Given the description of an element on the screen output the (x, y) to click on. 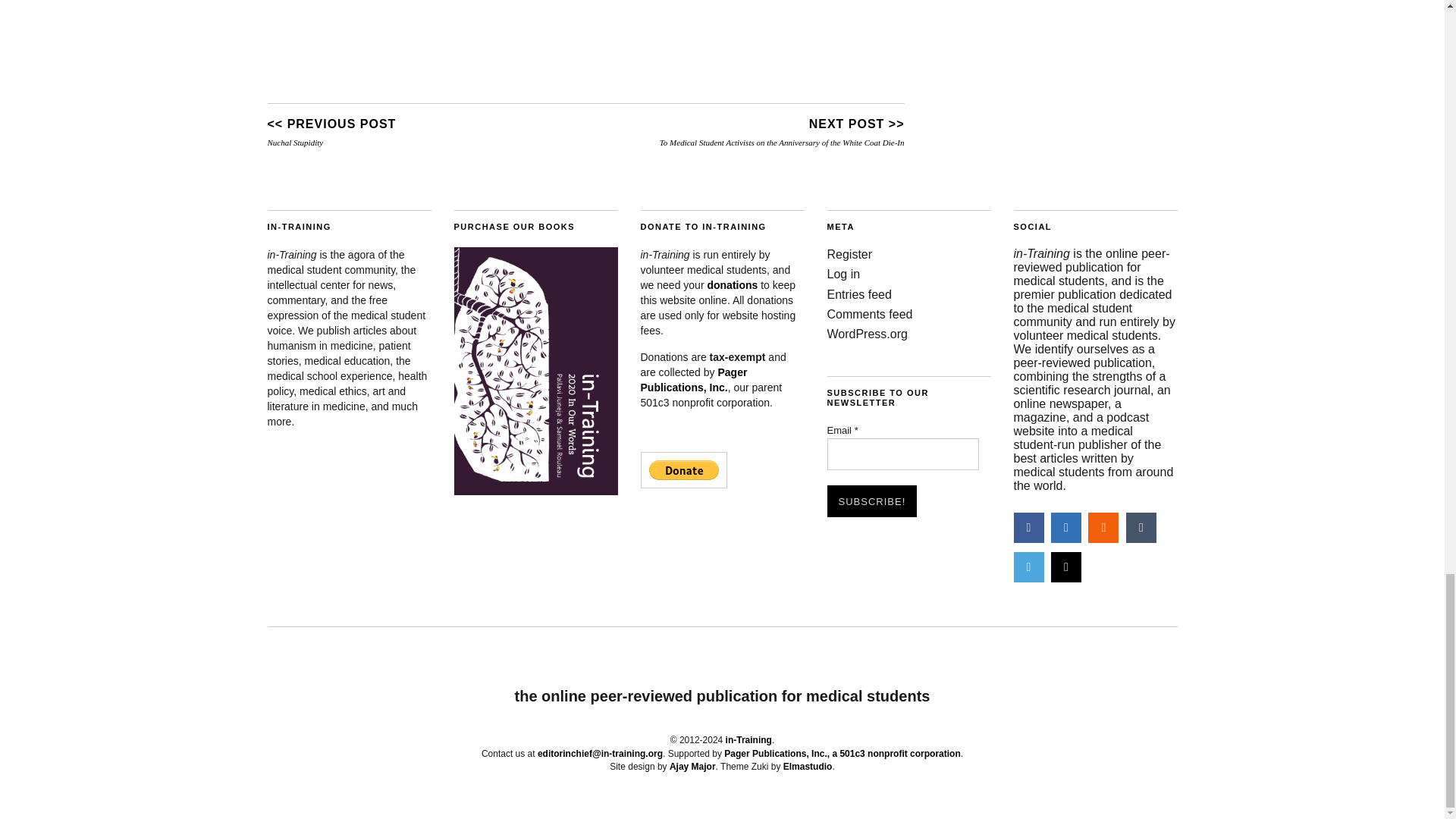
Facebook (1028, 527)
RSS (1102, 527)
Subscribe! (872, 500)
Linkedin (1066, 527)
Email (902, 454)
